Given the description of an element on the screen output the (x, y) to click on. 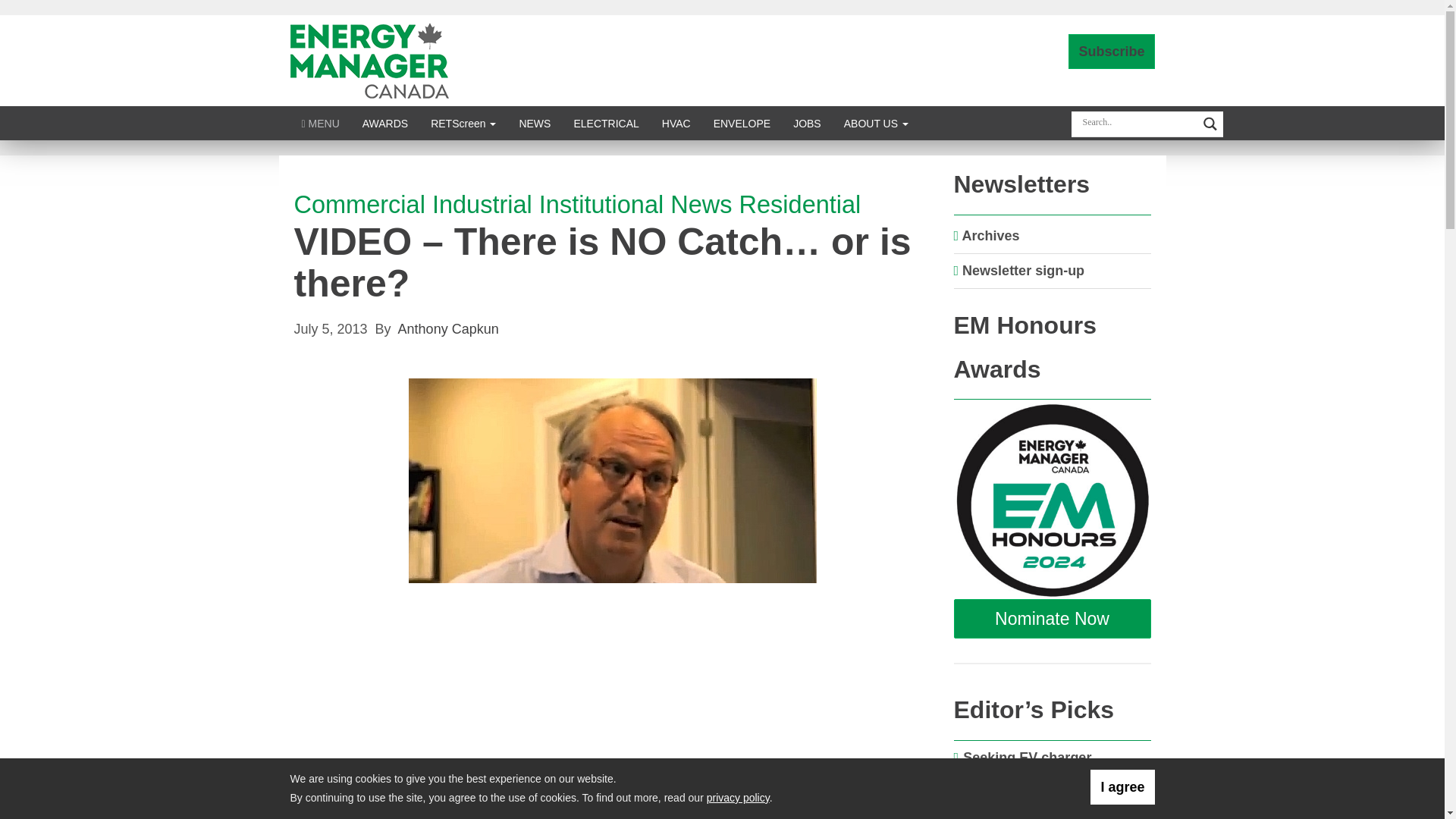
Subscribe (1111, 51)
NEWS (534, 123)
JOBS (806, 123)
Energy Manager (368, 59)
RETScreen (462, 123)
AWARDS (384, 123)
Click to show site navigation (319, 123)
ENVELOPE (741, 123)
ABOUT US (876, 123)
Small Business Lighting Program Video (502, 742)
